Given the description of an element on the screen output the (x, y) to click on. 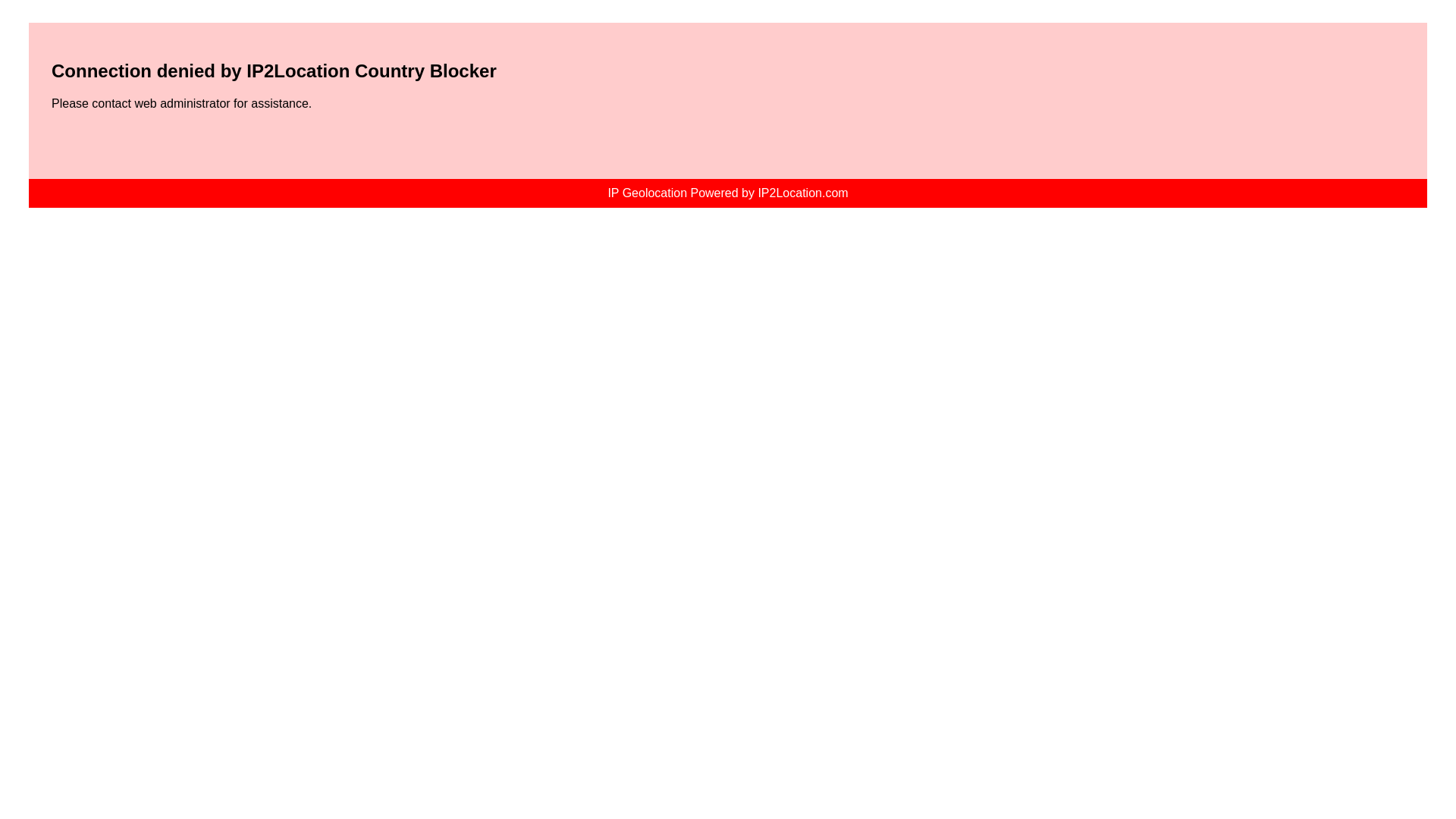
IP Geolocation Powered by IP2Location.com (727, 192)
